Given the description of an element on the screen output the (x, y) to click on. 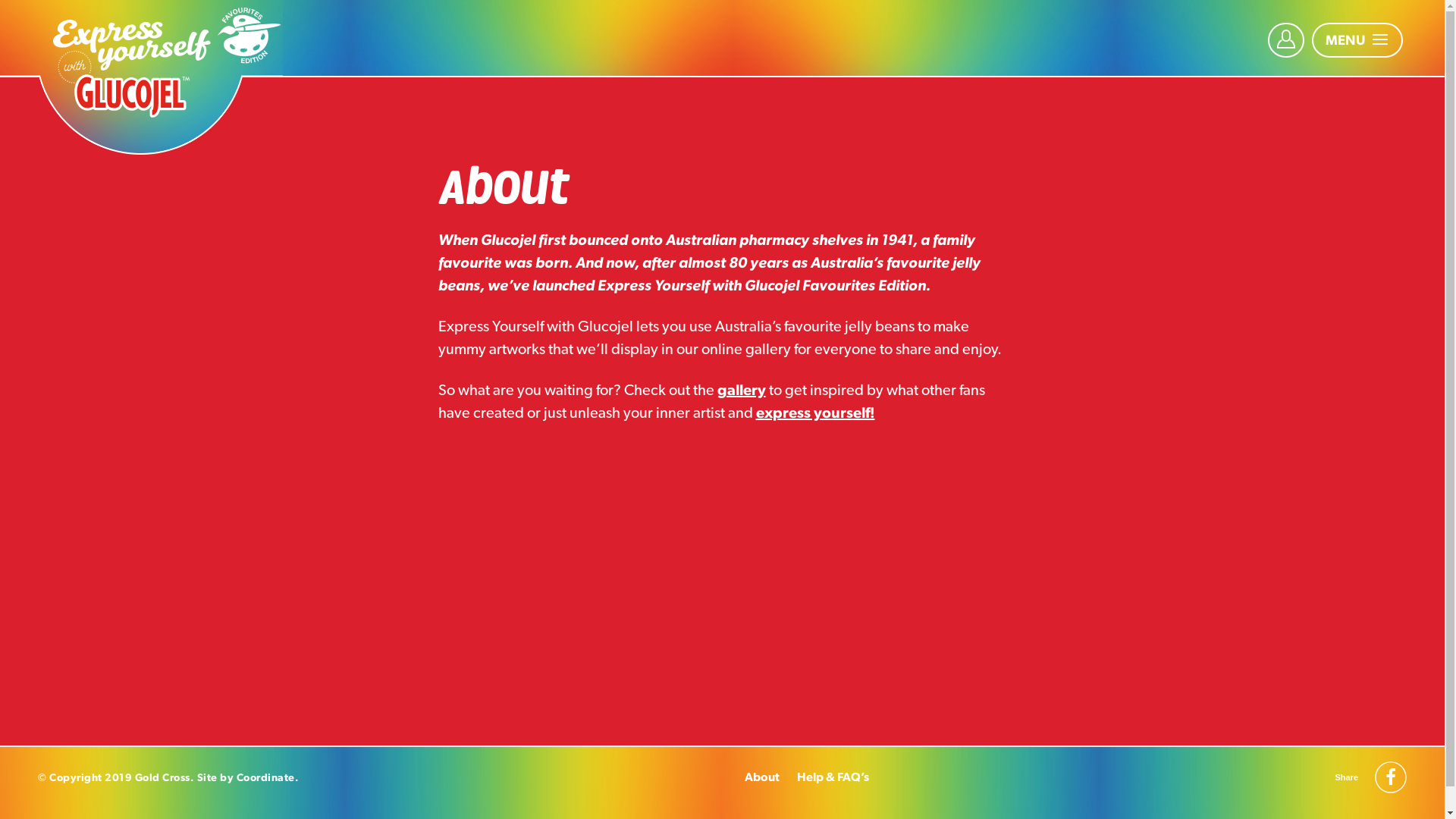
About Element type: text (761, 776)
MENU Element type: text (1356, 39)
gallery Element type: text (741, 389)
Share Element type: text (1346, 776)
express yourself! Element type: text (814, 412)
